Given the description of an element on the screen output the (x, y) to click on. 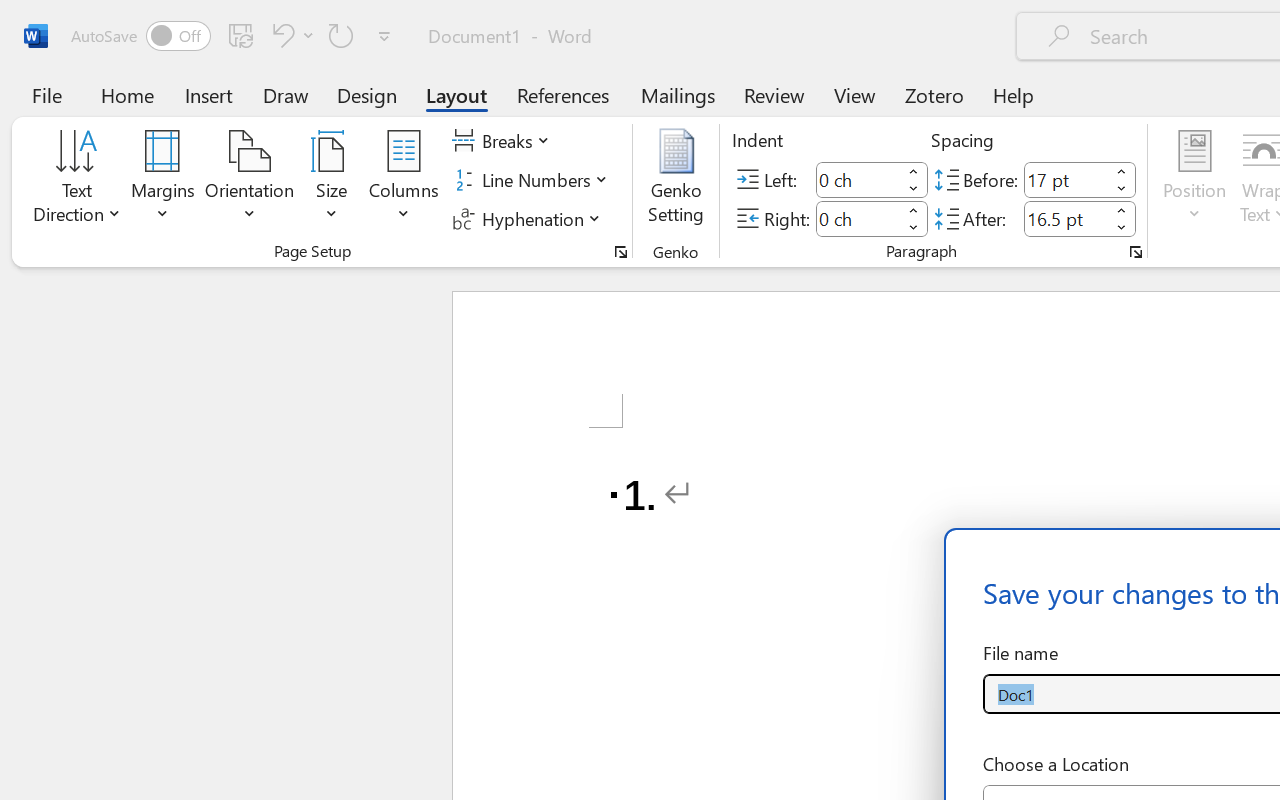
Size (331, 179)
More (1121, 210)
Repeat Doc Close (341, 35)
Line Numbers (532, 179)
Margins (163, 179)
